Given the description of an element on the screen output the (x, y) to click on. 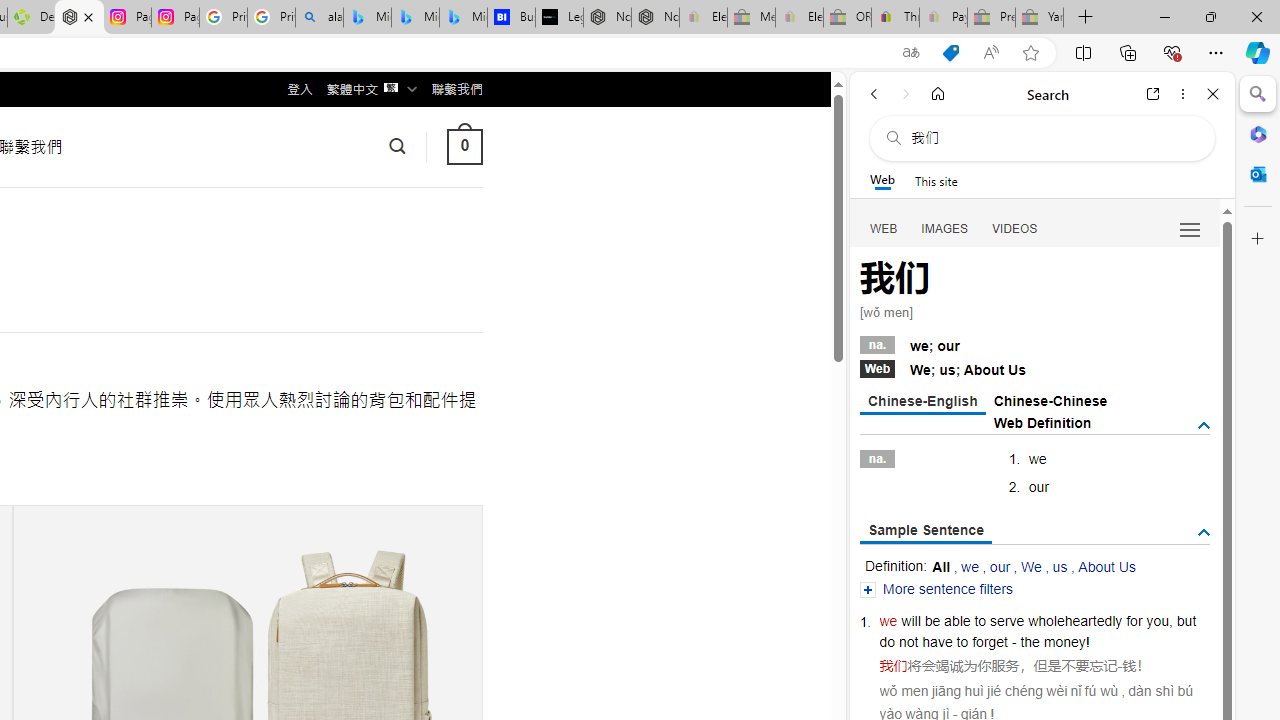
not (908, 642)
Chinese-Chinese (1050, 400)
will (911, 620)
Chinese-English (922, 402)
na.we; our (1034, 343)
 0  (464, 146)
